Given the description of an element on the screen output the (x, y) to click on. 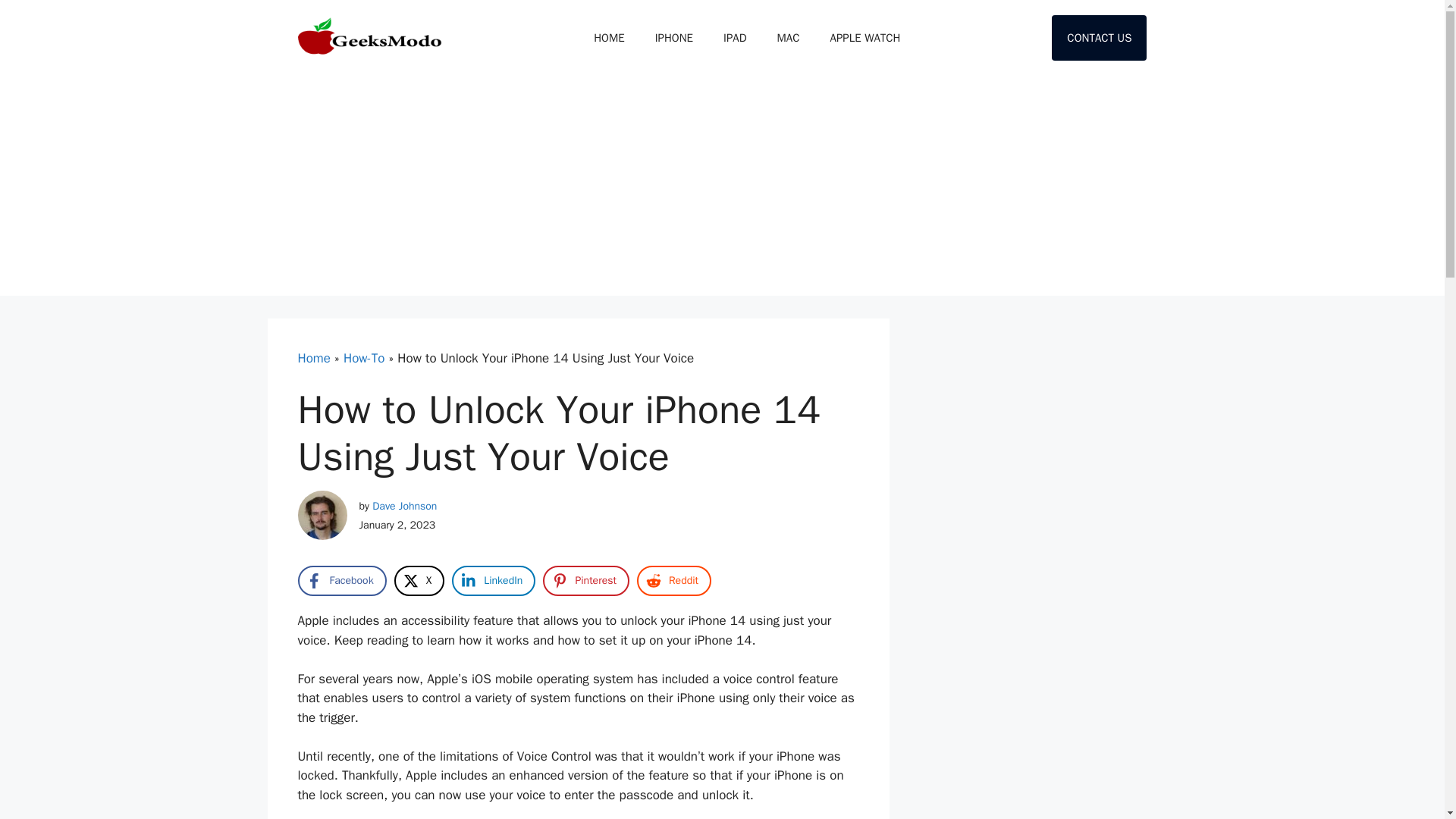
CONTACT US (1099, 37)
HOME (608, 37)
X (419, 580)
IPAD (734, 37)
How-To (363, 358)
IPHONE (673, 37)
APPLE WATCH (865, 37)
Facebook (341, 580)
Home (313, 358)
MAC (788, 37)
